Given the description of an element on the screen output the (x, y) to click on. 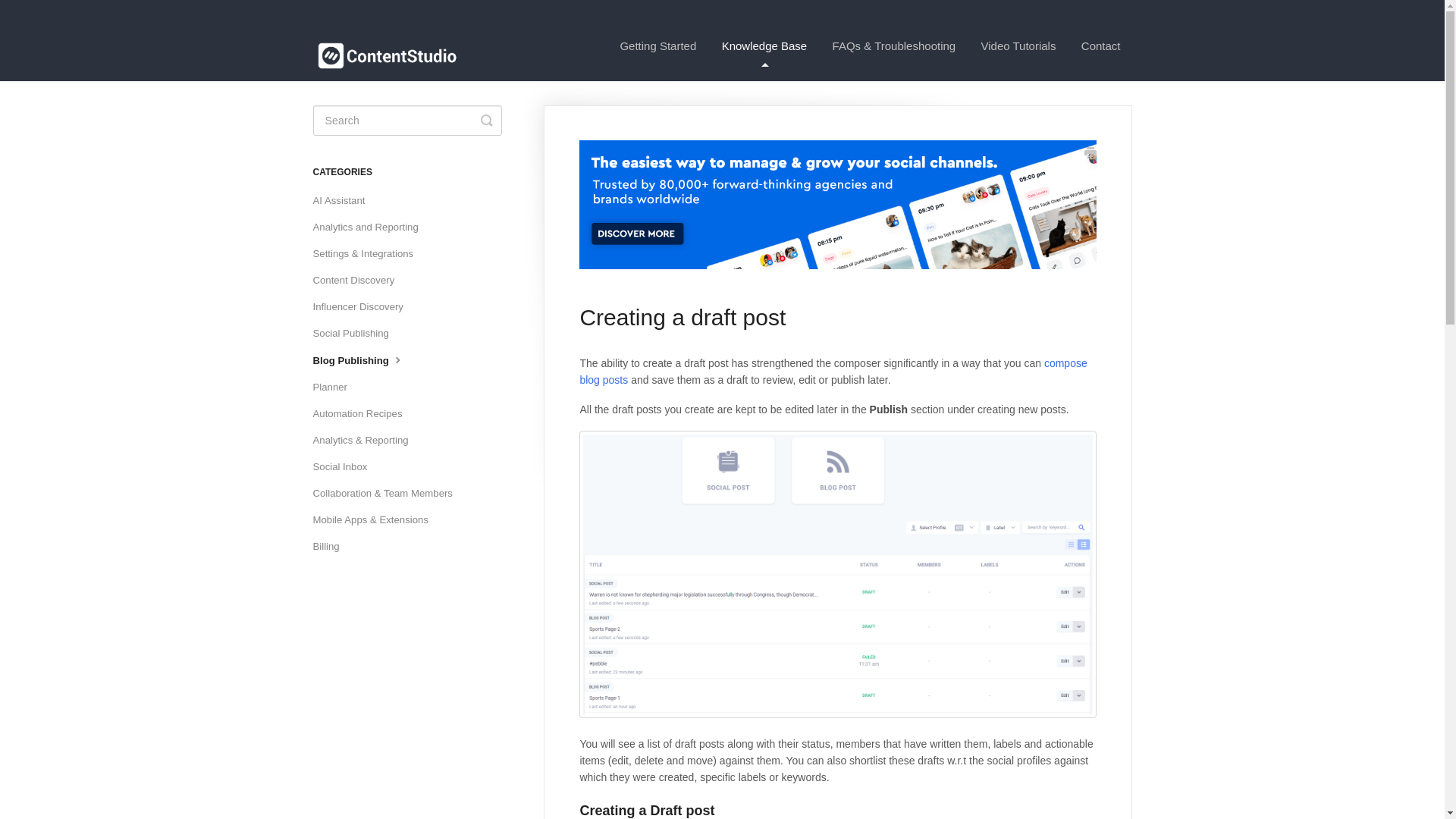
Blog Publishing (364, 360)
Knowledge Base (764, 45)
Billing (331, 546)
Contact (1101, 45)
Analytics and Reporting (371, 227)
Video Tutorials (1018, 45)
Automation Recipes (363, 413)
Planner (335, 387)
compose blog posts (832, 371)
Social Publishing (355, 333)
AI Assistant (344, 200)
Getting Started (657, 45)
Social Inbox (345, 467)
Content Discovery (359, 280)
search-query (406, 120)
